Given the description of an element on the screen output the (x, y) to click on. 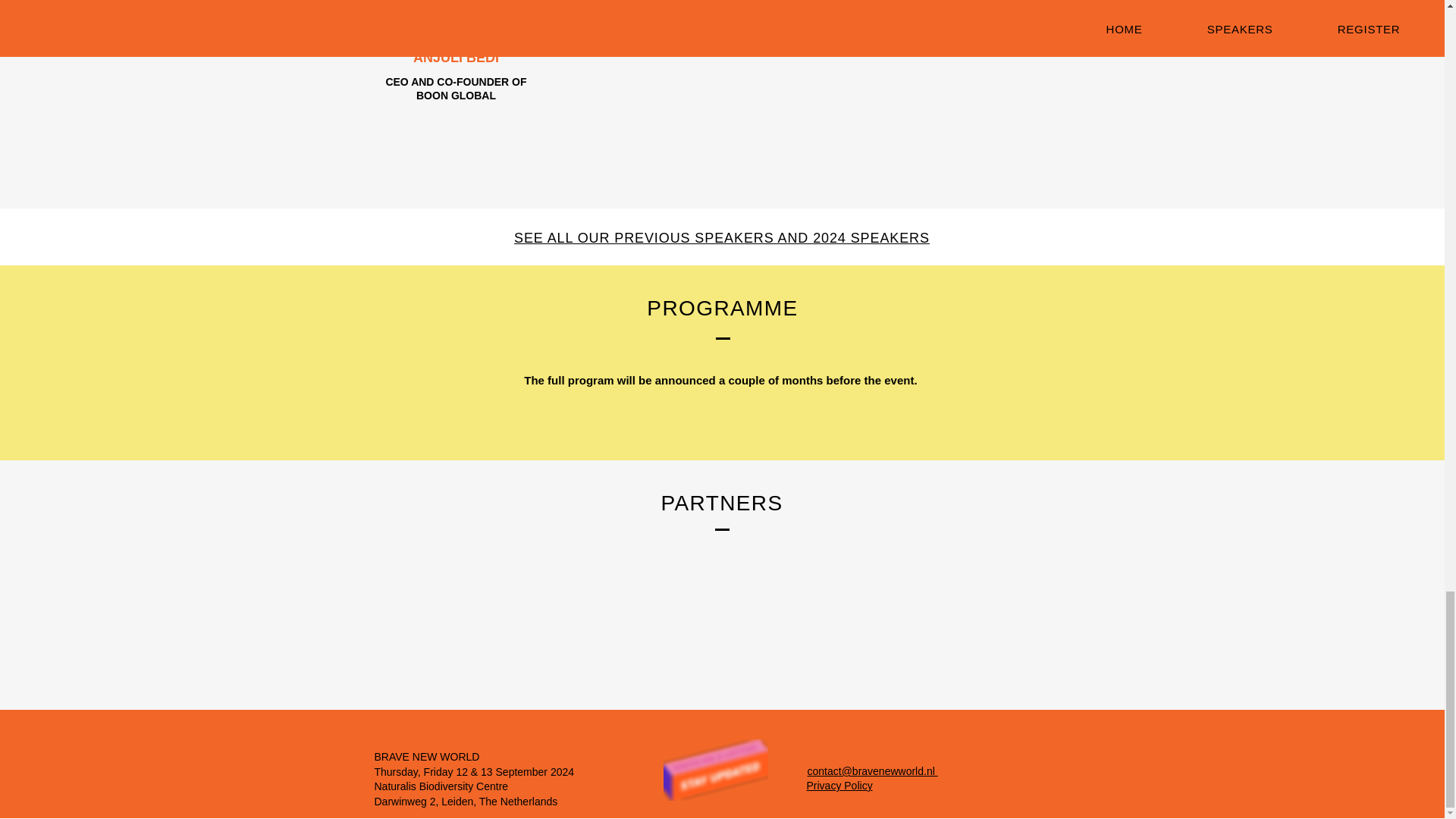
ANJULI BEDI (456, 57)
SEE ALL OUR PREVIOUS SPEAKERS AND 2024 SPEAKERS (721, 237)
Privacy Policy (839, 785)
